Given the description of an element on the screen output the (x, y) to click on. 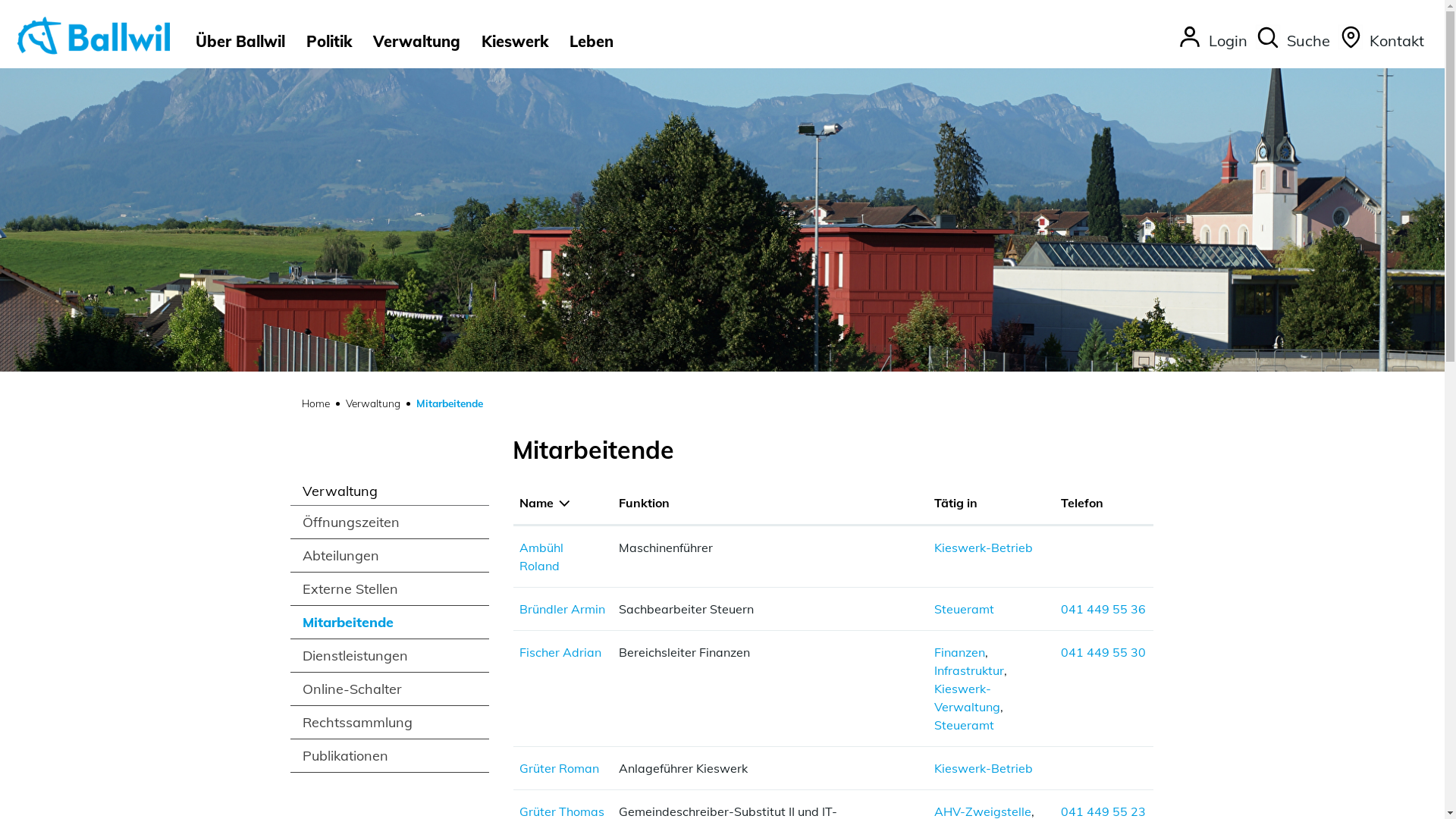
Publikationen Element type: text (389, 755)
Rechtssammlung Element type: text (389, 722)
Leben Element type: text (591, 41)
Kontakt Element type: text (1380, 41)
041 449 55 30 Element type: text (1102, 651)
Externe Stellen Element type: text (389, 588)
Kieswerk-Betrieb Element type: text (983, 547)
Online-Schalter Element type: text (389, 688)
Verwaltung Element type: text (372, 403)
Abteilungen Element type: text (389, 555)
Fischer Adrian Element type: text (560, 651)
Steueramt Element type: text (964, 724)
Politik Element type: text (328, 41)
Kieswerk-Betrieb Element type: text (983, 767)
Ballwil Element type: text (92, 34)
Infrastruktur Element type: text (969, 669)
Verwaltung Element type: text (416, 41)
Home Element type: text (315, 403)
041 449 55 36 Element type: text (1102, 608)
Kieswerk-Verwaltung Element type: text (967, 697)
Finanzen Element type: text (959, 651)
Suche Element type: text (1292, 41)
Kieswerk Element type: text (514, 41)
Login Element type: text (1211, 41)
Steueramt Element type: text (964, 608)
Dienstleistungen Element type: text (389, 655)
